Given the description of an element on the screen output the (x, y) to click on. 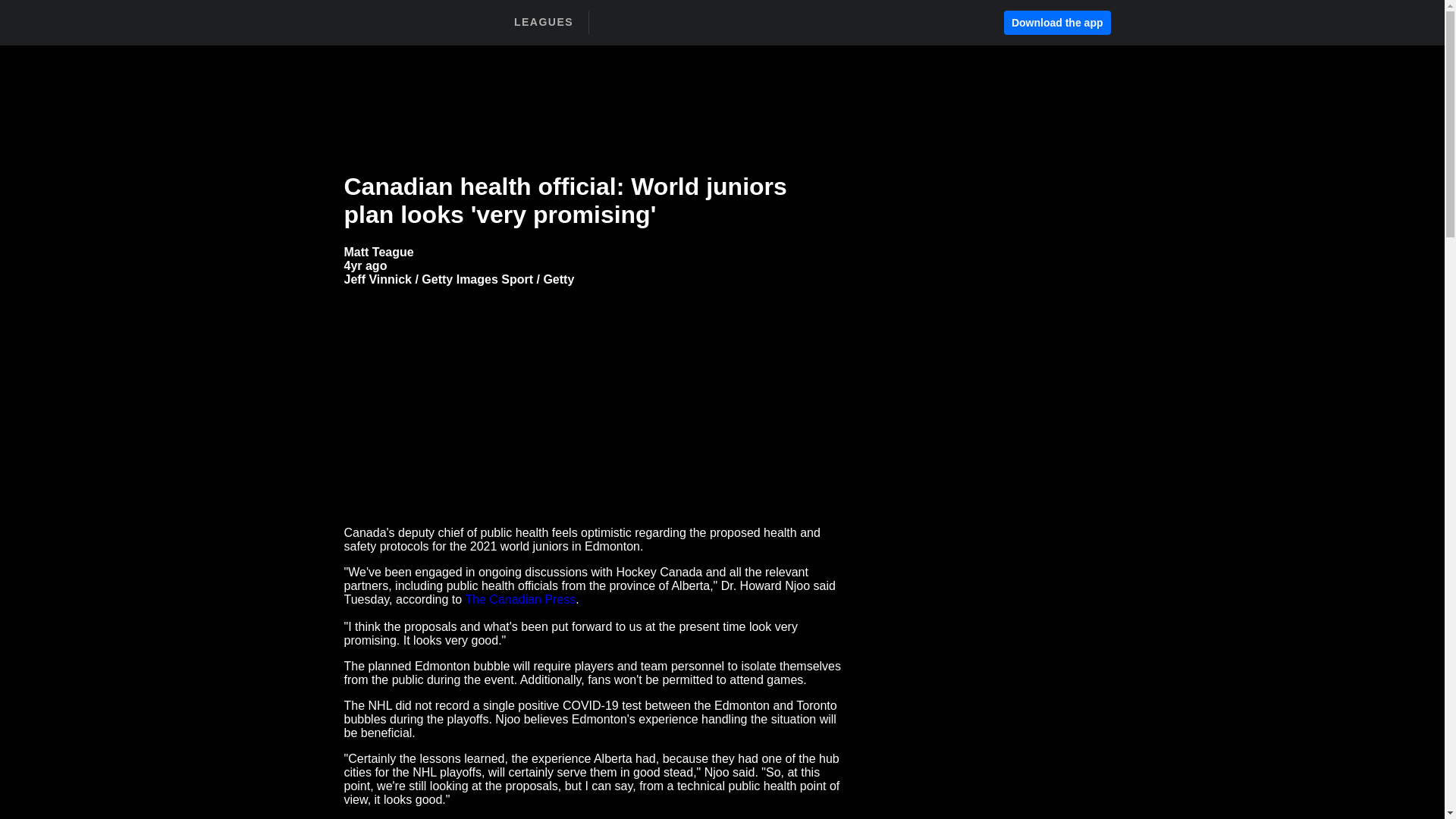
The Canadian Press (519, 599)
LEAGUES (543, 22)
Matt Teague (378, 251)
2020-11-18T18:28:16.000Z (365, 265)
Download the app (1057, 22)
